Given the description of an element on the screen output the (x, y) to click on. 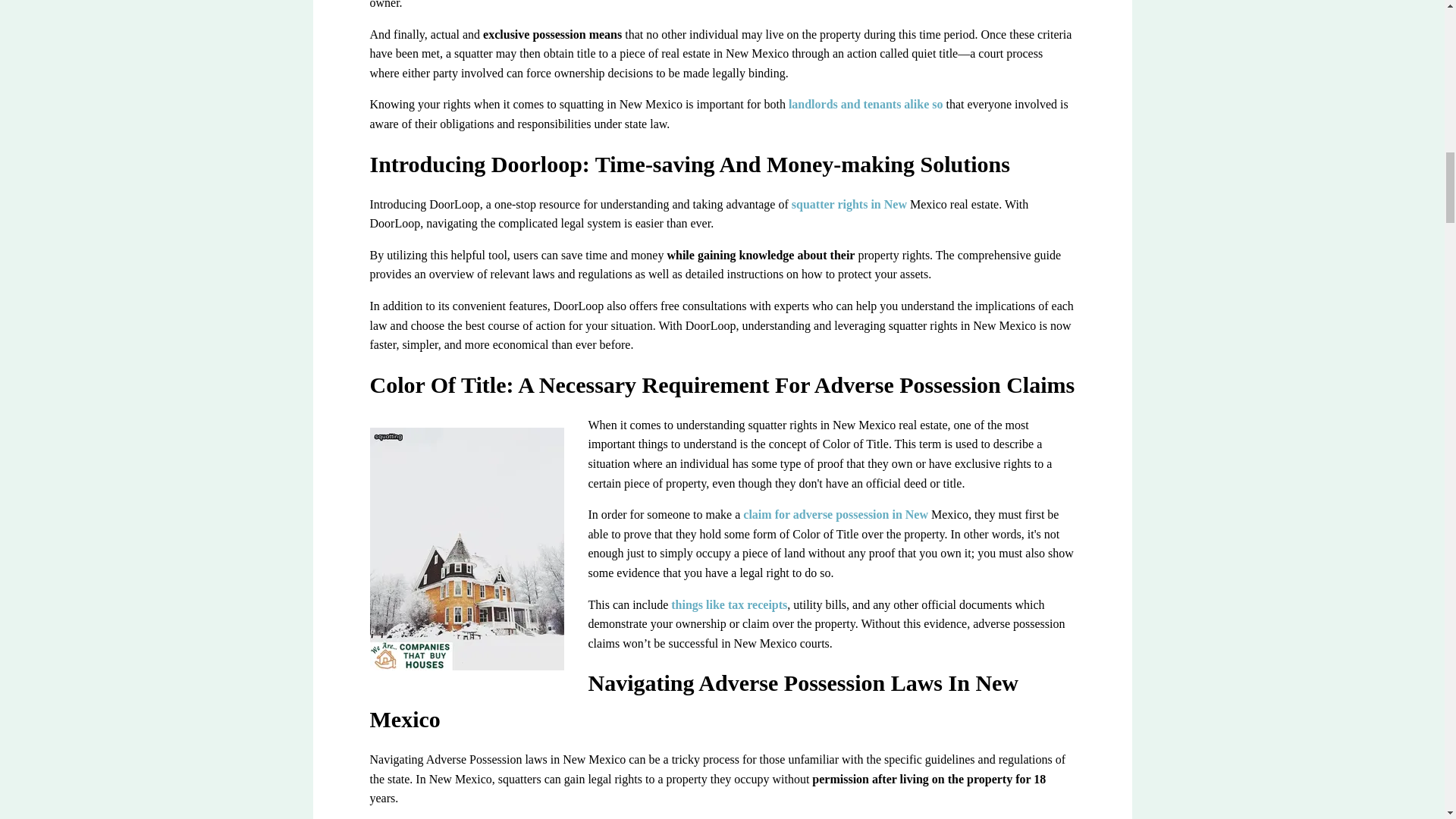
landlords and tenants alike so (866, 103)
squatter rights in New (849, 204)
things like tax receipts (729, 603)
claim for adverse possession in New (835, 513)
